Given the description of an element on the screen output the (x, y) to click on. 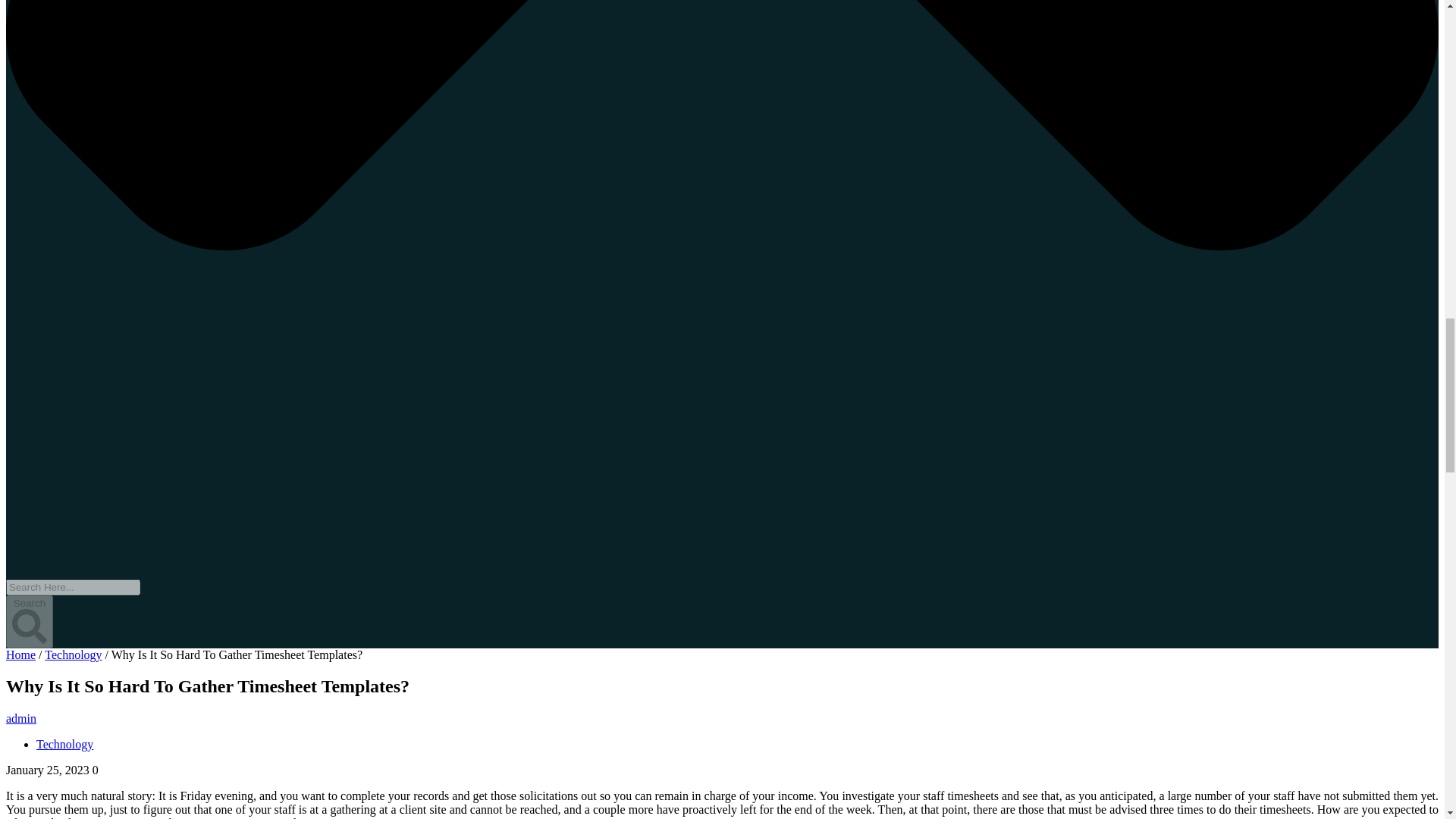
Home (19, 654)
admin (20, 717)
Technology (64, 744)
Technology (73, 654)
